Given the description of an element on the screen output the (x, y) to click on. 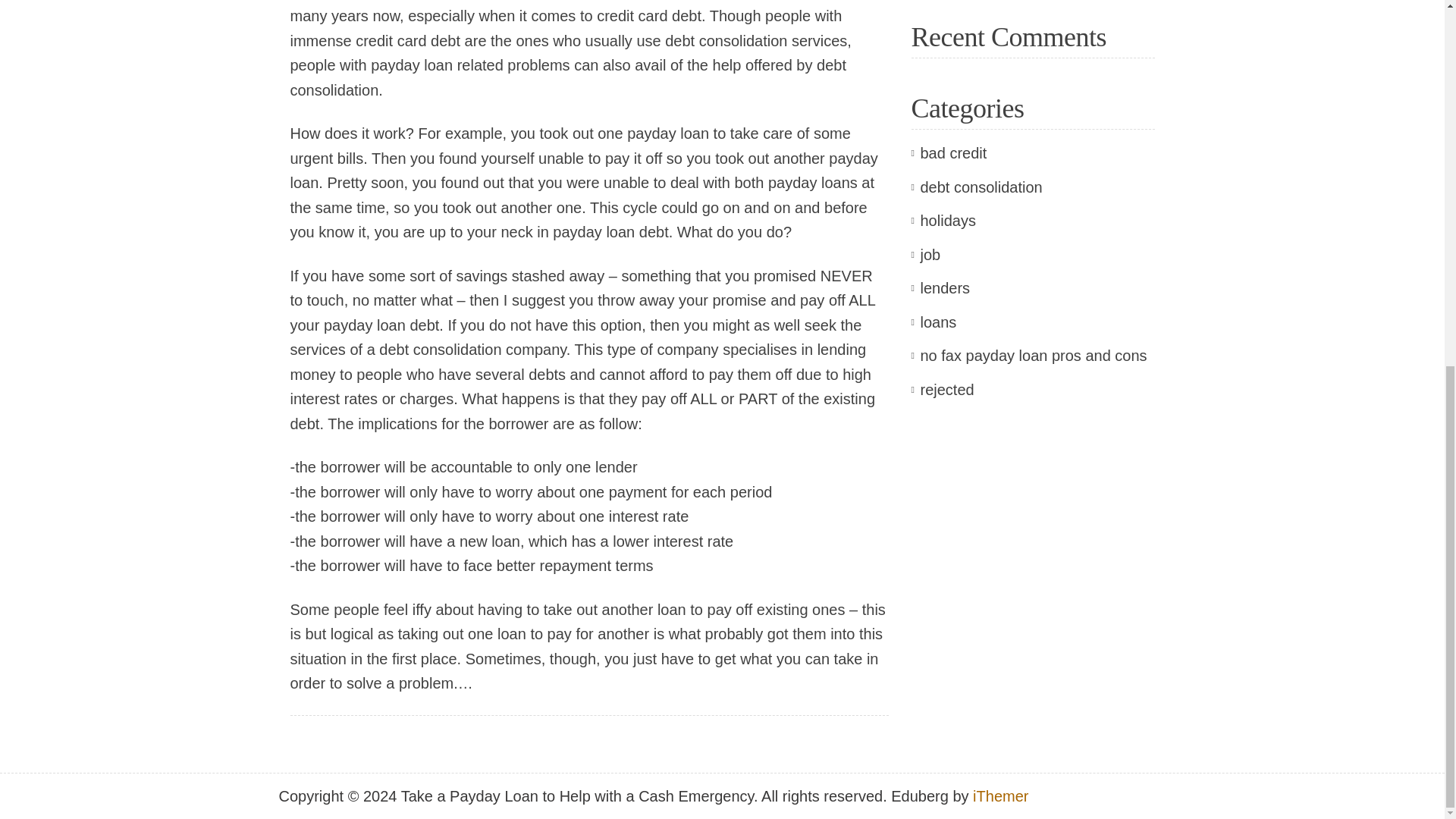
rejected (947, 389)
lenders (945, 288)
no fax payday loan pros and cons (1033, 355)
bad credit (953, 152)
job (930, 254)
iThemer (999, 795)
loans (938, 321)
debt consolidation (981, 187)
holidays (947, 220)
